Given the description of an element on the screen output the (x, y) to click on. 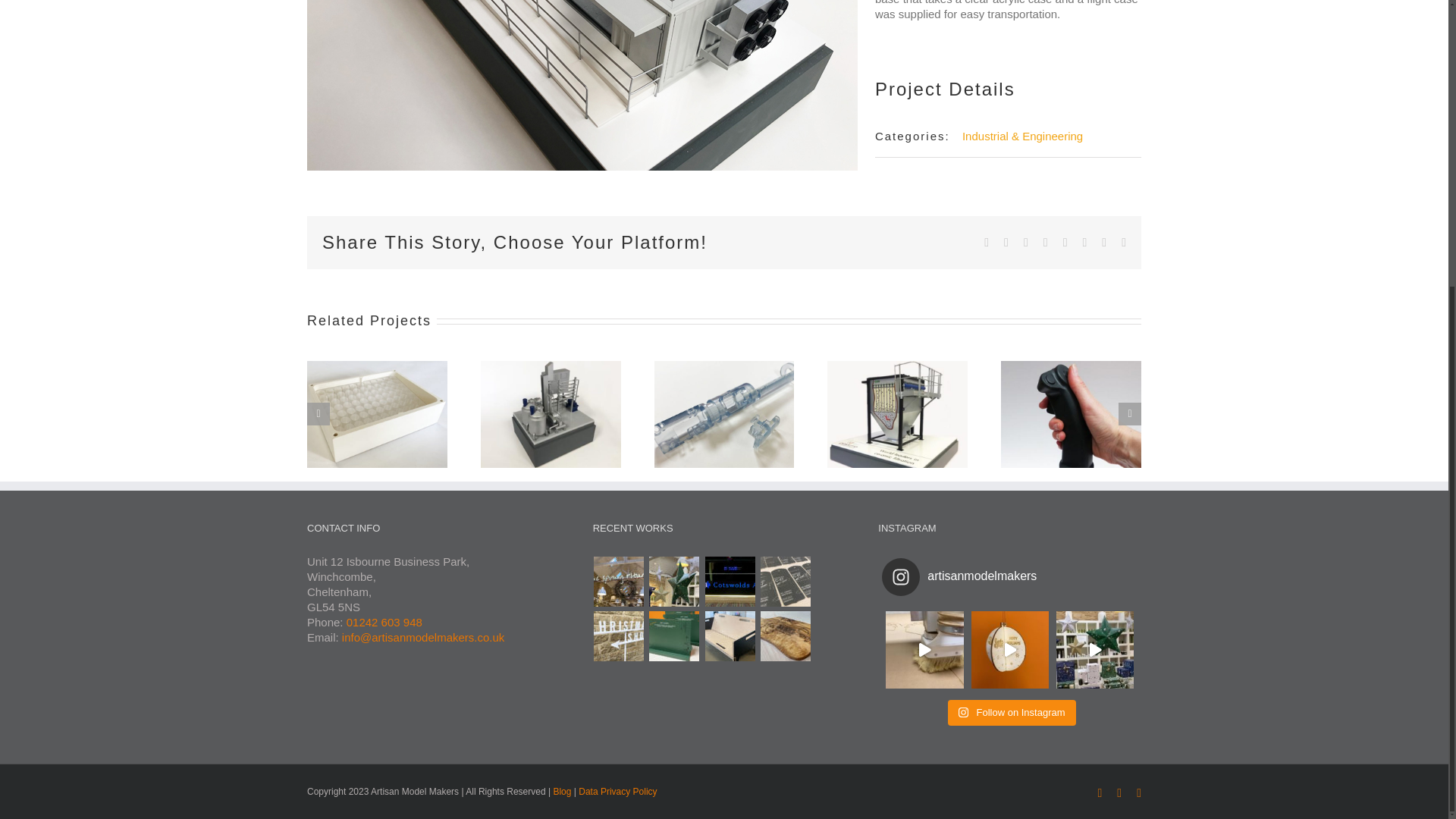
Cotswold AV acrylic faceplate (729, 581)
Spring shop signs (618, 581)
3d card stars for Bamford (673, 581)
Engraved aviation tags (784, 581)
